Given the description of an element on the screen output the (x, y) to click on. 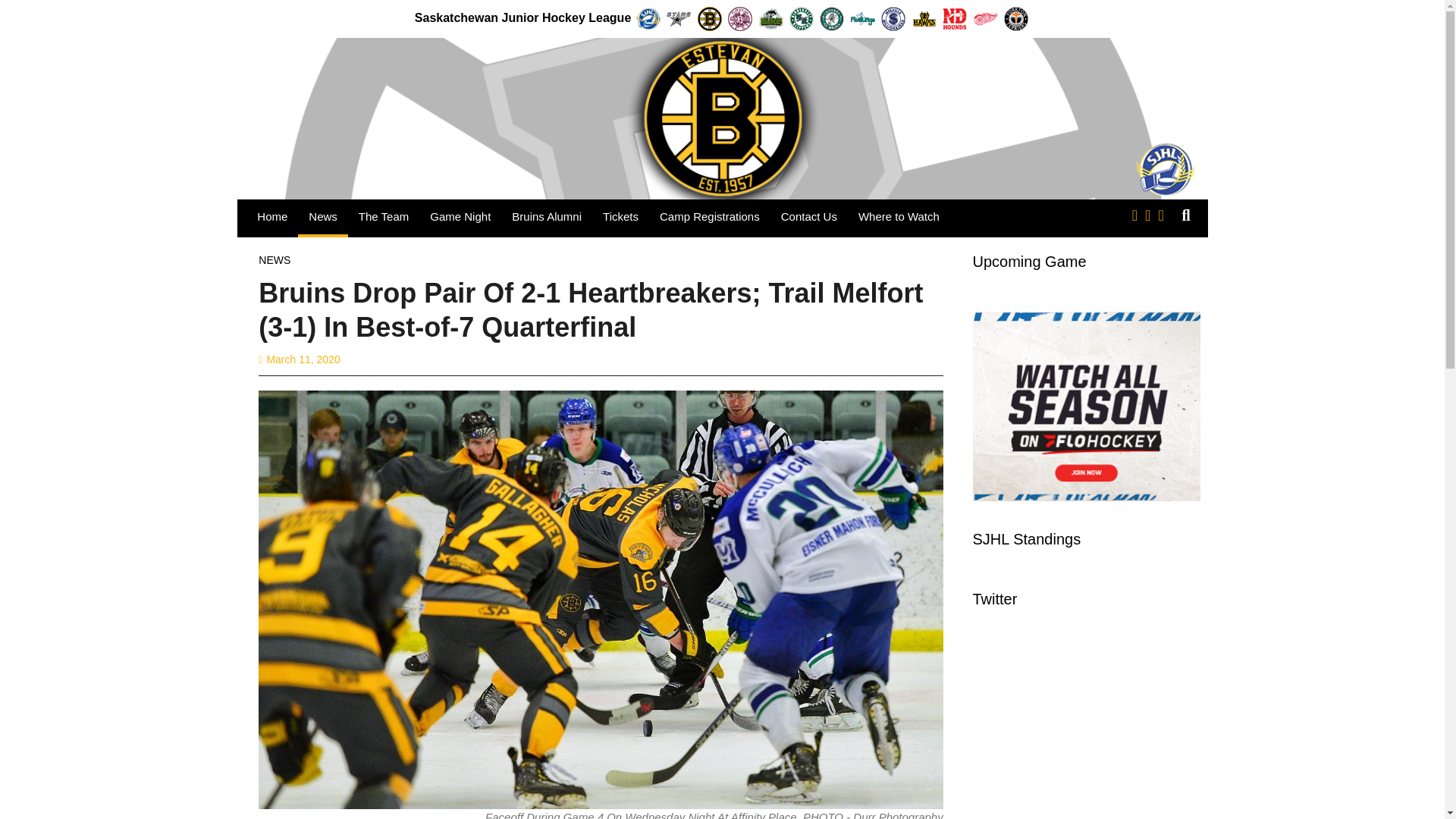
Kindersley Klippers (801, 18)
Battlefords North Stars (679, 18)
Saskatchewan Junior Hockey League (648, 18)
Flin Flon Bombers (740, 18)
La Ronge Ice Wolves (831, 18)
Estevan Bruins (709, 18)
Melfort Mustangs (862, 18)
Humboldt Broncos (770, 18)
Melville Millionaires (893, 18)
